Given the description of an element on the screen output the (x, y) to click on. 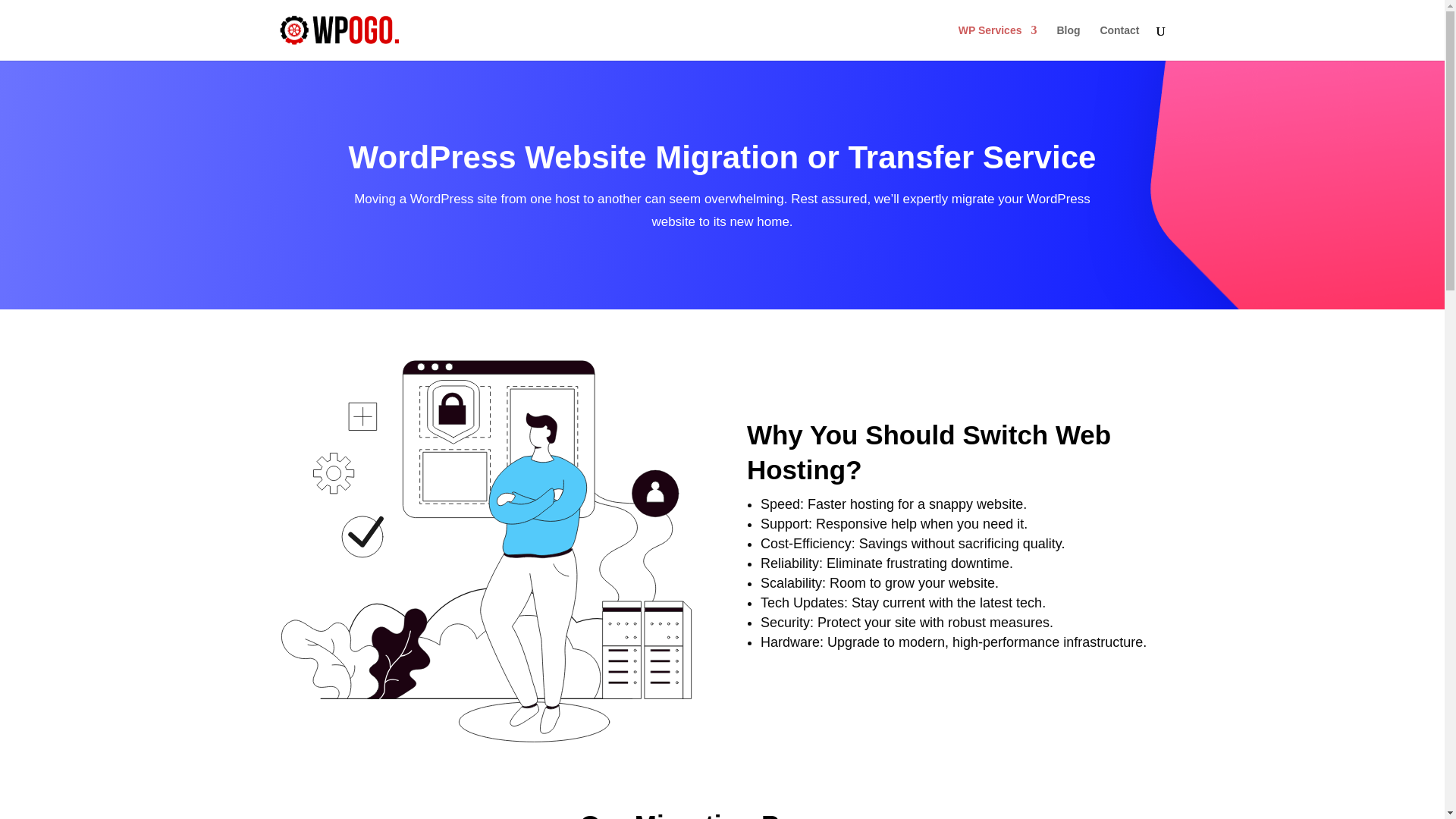
WP Services (997, 42)
Contact (1118, 42)
Blog (1068, 42)
